Given the description of an element on the screen output the (x, y) to click on. 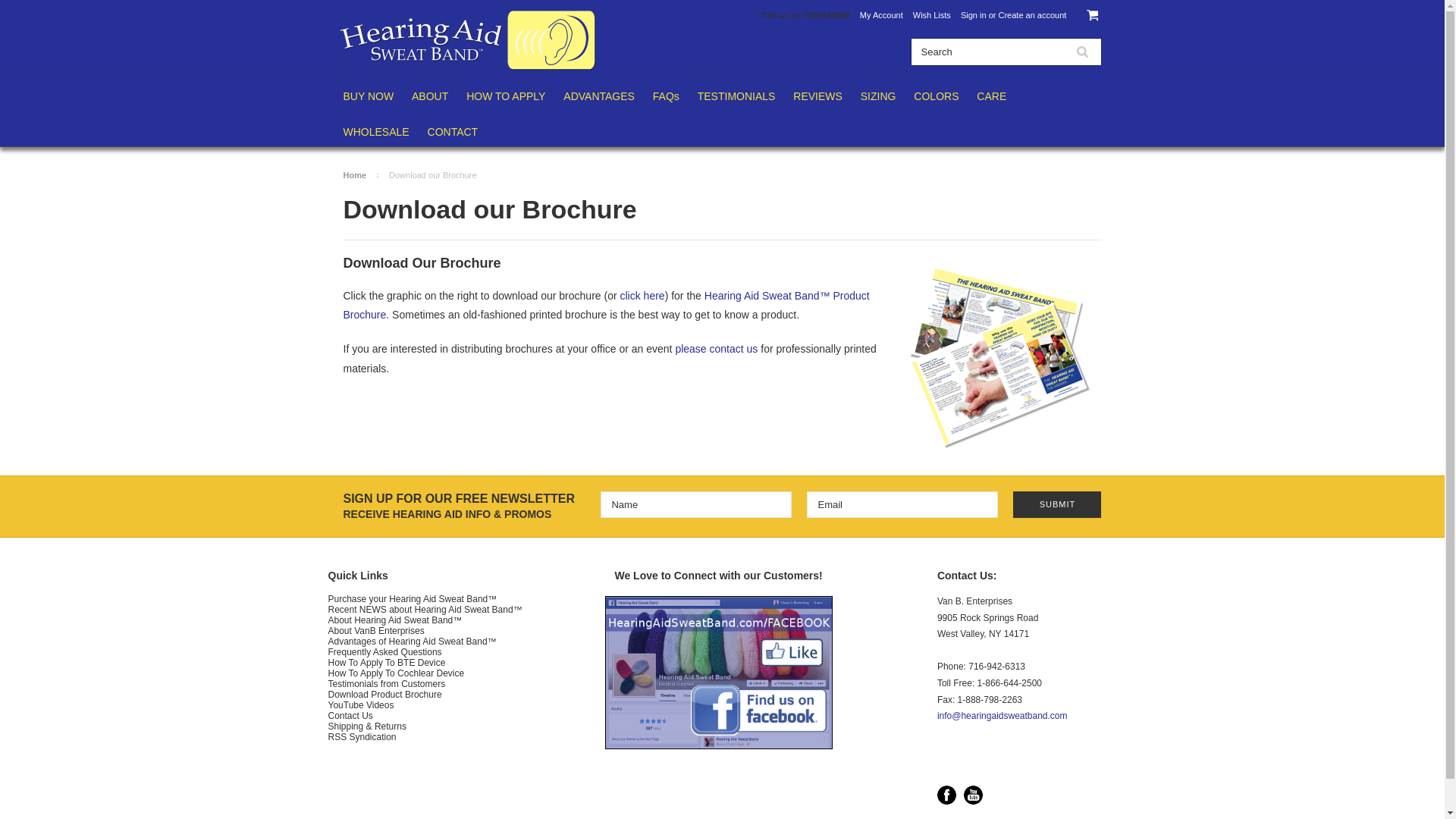
Search (1081, 51)
Wish Lists (931, 14)
YouTube (972, 794)
Name (695, 504)
Email (901, 504)
My Account (881, 14)
Submit (1056, 504)
Facebook (946, 794)
Search (986, 51)
